Given the description of an element on the screen output the (x, y) to click on. 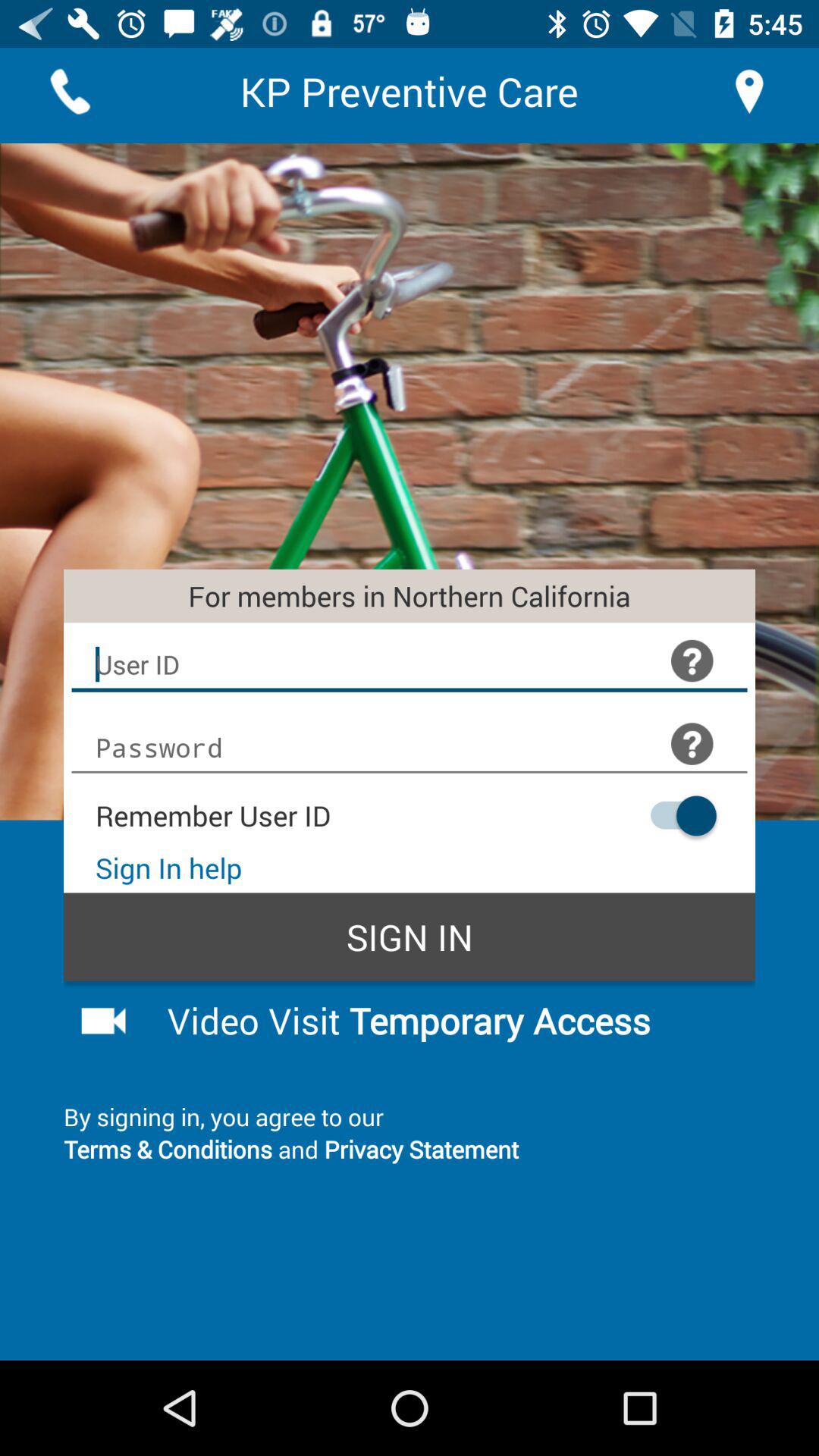
press app next to remember user id app (676, 815)
